Given the description of an element on the screen output the (x, y) to click on. 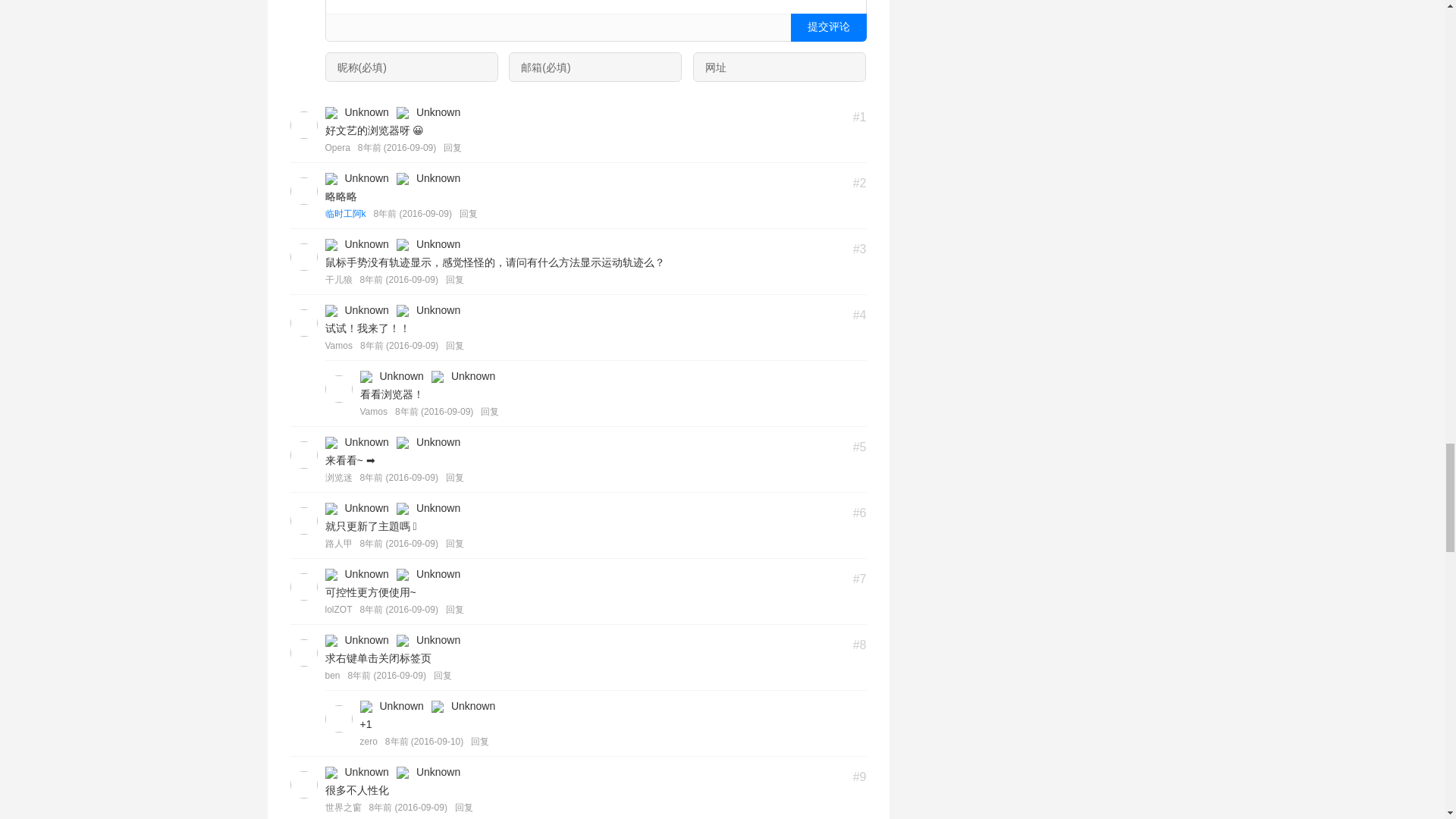
Unknown  (330, 178)
Unknown (402, 112)
Unknown  (330, 112)
